Given the description of an element on the screen output the (x, y) to click on. 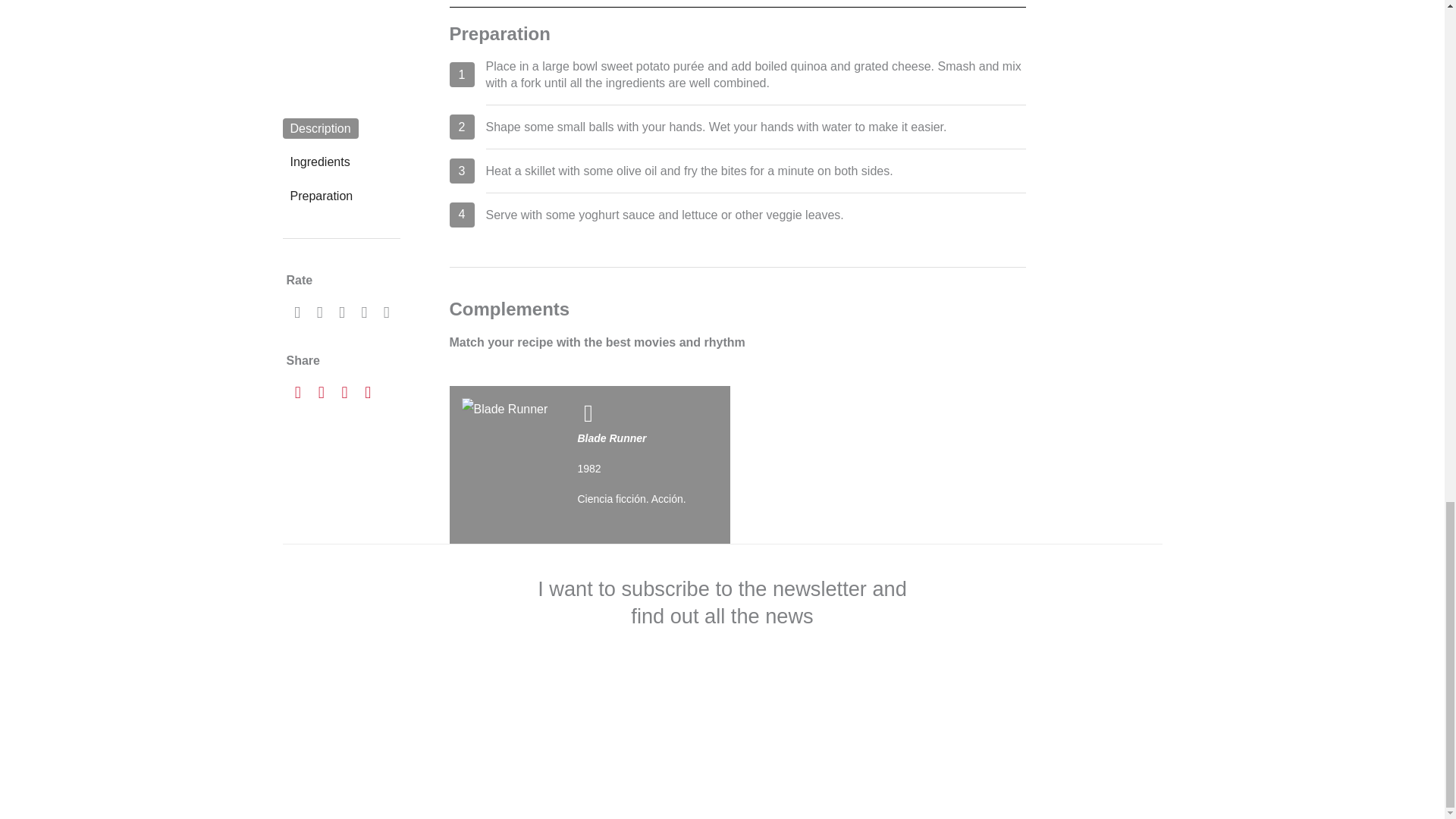
Spotify (884, 464)
